Given the description of an element on the screen output the (x, y) to click on. 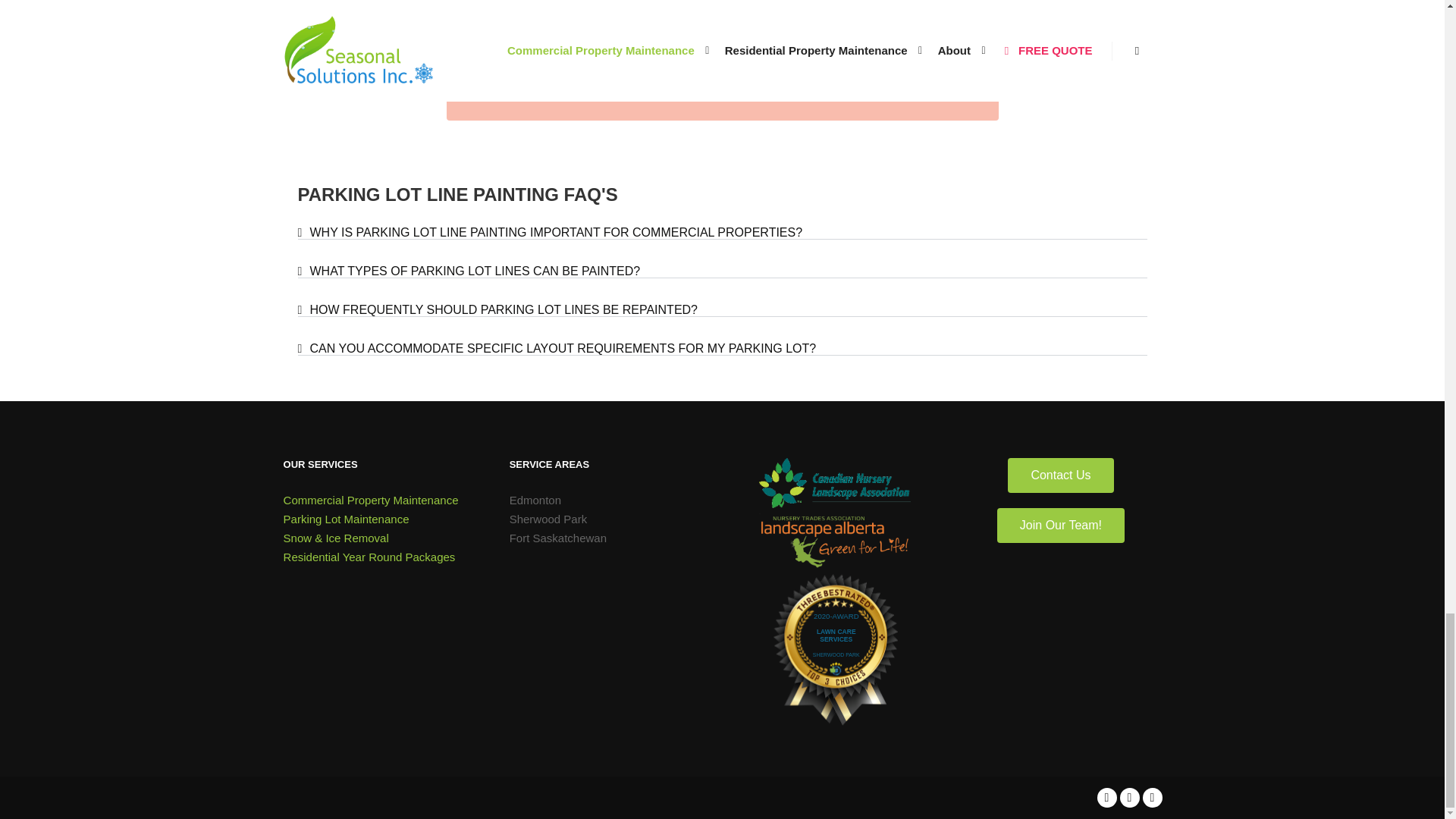
Instagram (1128, 797)
Contact Us (1060, 475)
Residential Year Round Packages (382, 556)
Facebook (1106, 797)
WHAT TYPES OF PARKING LOT LINES CAN BE PAINTED? (474, 270)
Parking Lot Maintenance (382, 518)
HOW FREQUENTLY SHOULD PARKING LOT LINES BE REPAINTED? (502, 309)
Linkedin (1151, 797)
Join Our Team! (1060, 524)
Commercial Property Maintenance (382, 499)
